Given the description of an element on the screen output the (x, y) to click on. 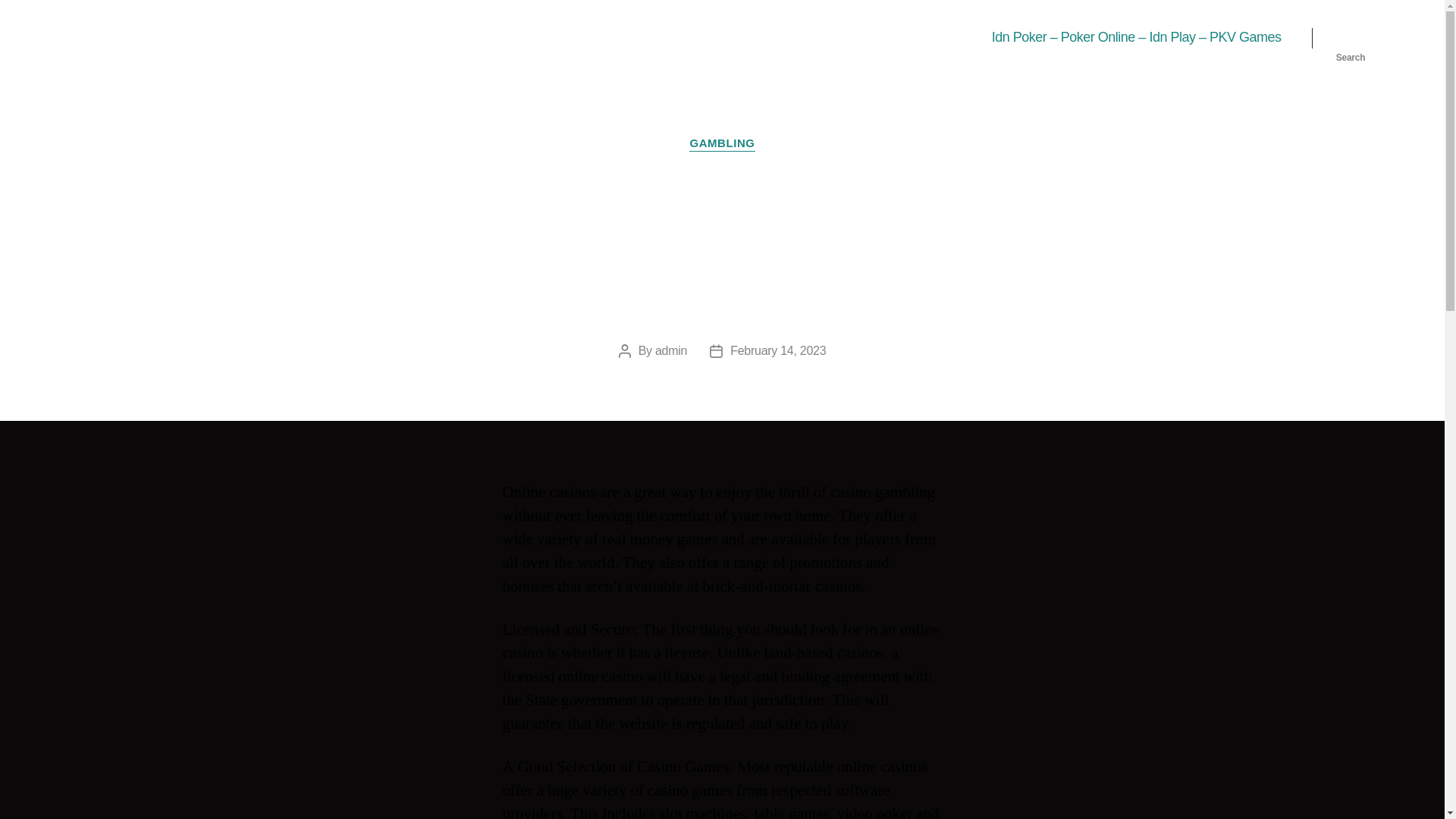
Search (1350, 37)
GAMBLING (721, 143)
novascotiavantours.com (183, 37)
February 14, 2023 (777, 350)
admin (671, 350)
